Given the description of an element on the screen output the (x, y) to click on. 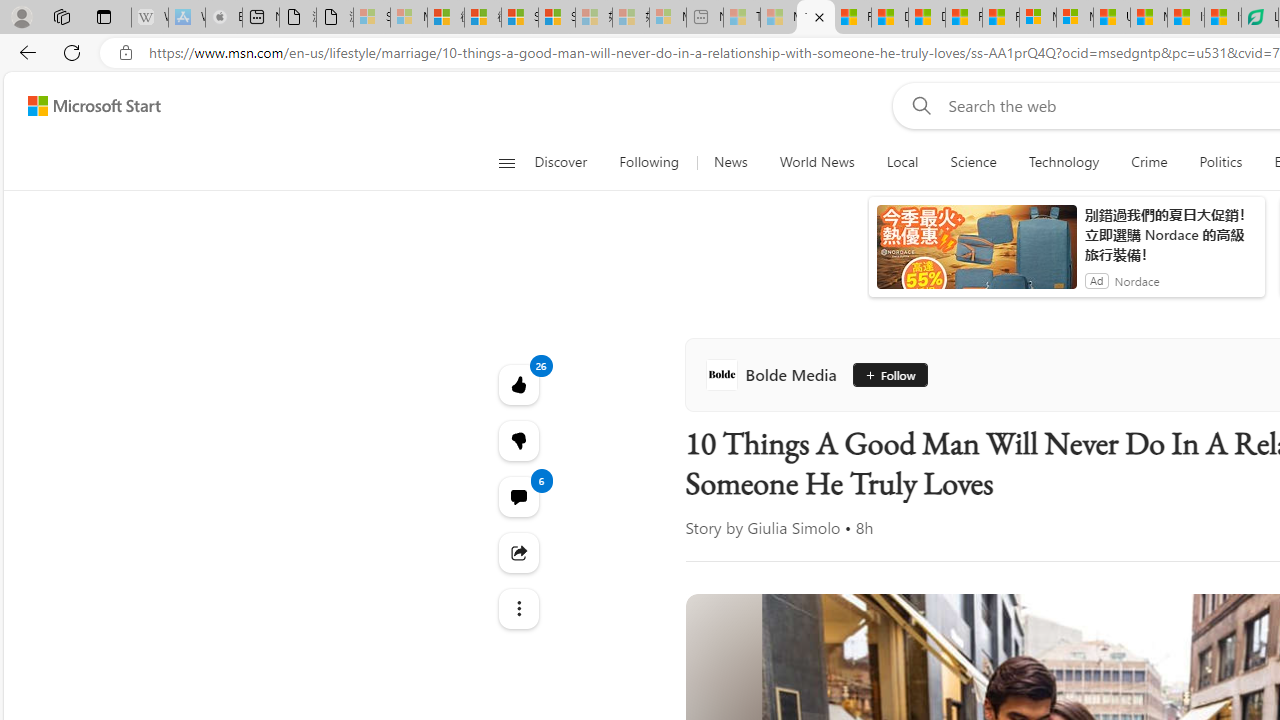
News (730, 162)
Following (648, 162)
Science (973, 162)
Web search (917, 105)
News (729, 162)
Class: at-item (517, 609)
Crime (1149, 162)
Food and Drink - MSN (852, 17)
Bolde Media (774, 374)
anim-content (975, 255)
